Given the description of an element on the screen output the (x, y) to click on. 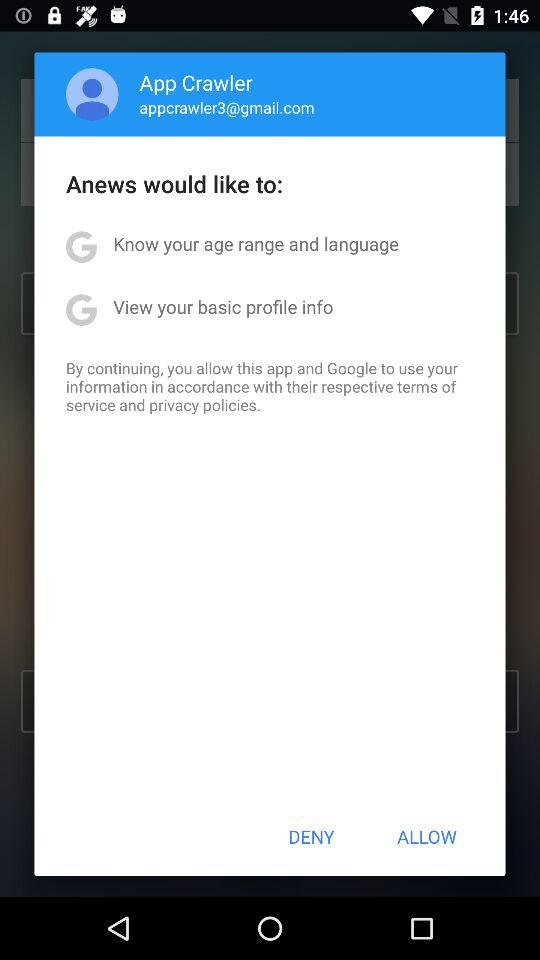
select the appcrawler3@gmail.com icon (226, 107)
